Given the description of an element on the screen output the (x, y) to click on. 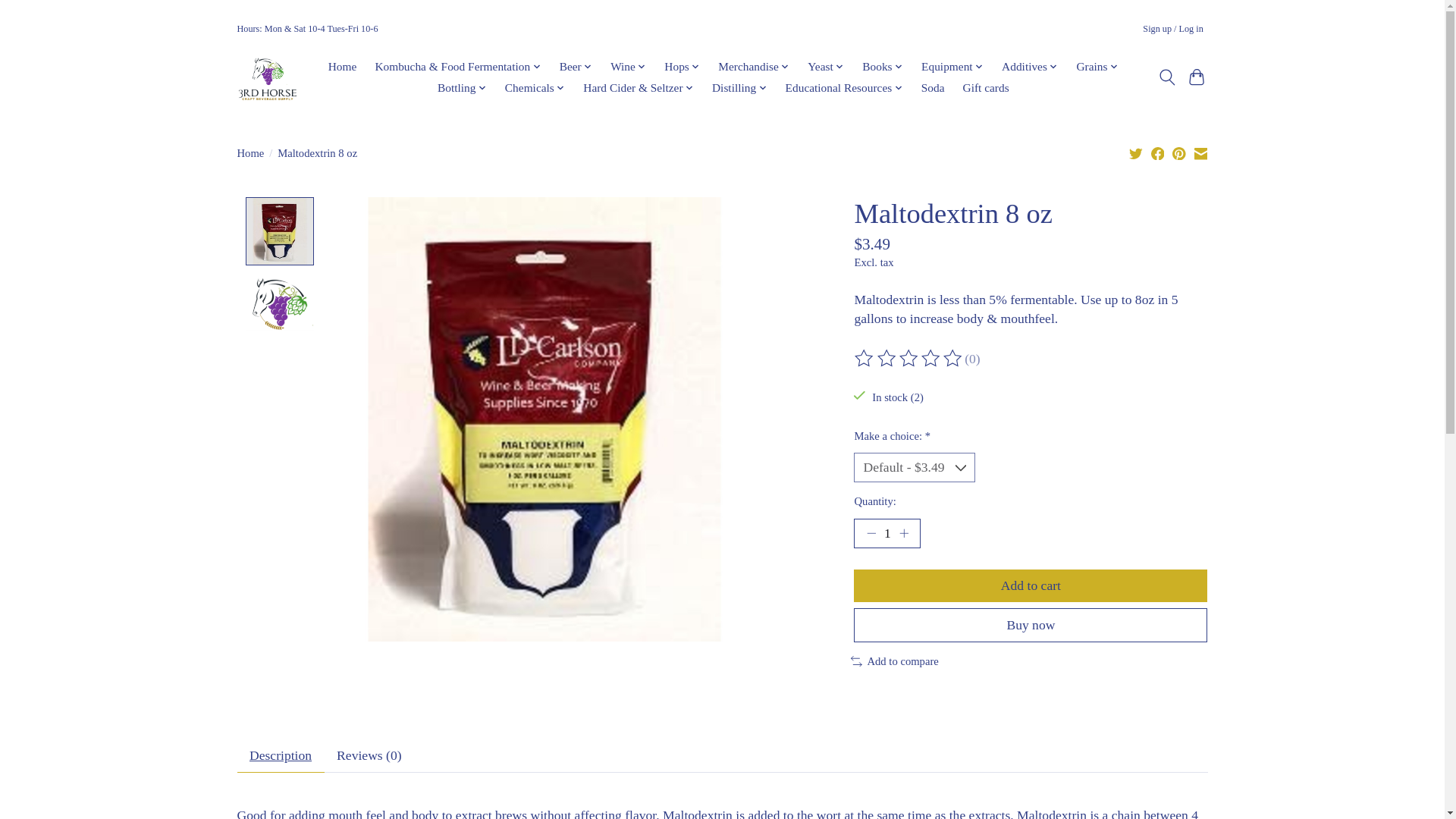
Hops (681, 66)
Home (341, 66)
1 (886, 533)
Wine (628, 66)
3rd Horse Craft Beverage Supply (266, 76)
Yeast (825, 66)
Beer (574, 66)
Share on Pinterest (1178, 153)
Merchandise (753, 66)
Share on Facebook (1157, 153)
